Given the description of an element on the screen output the (x, y) to click on. 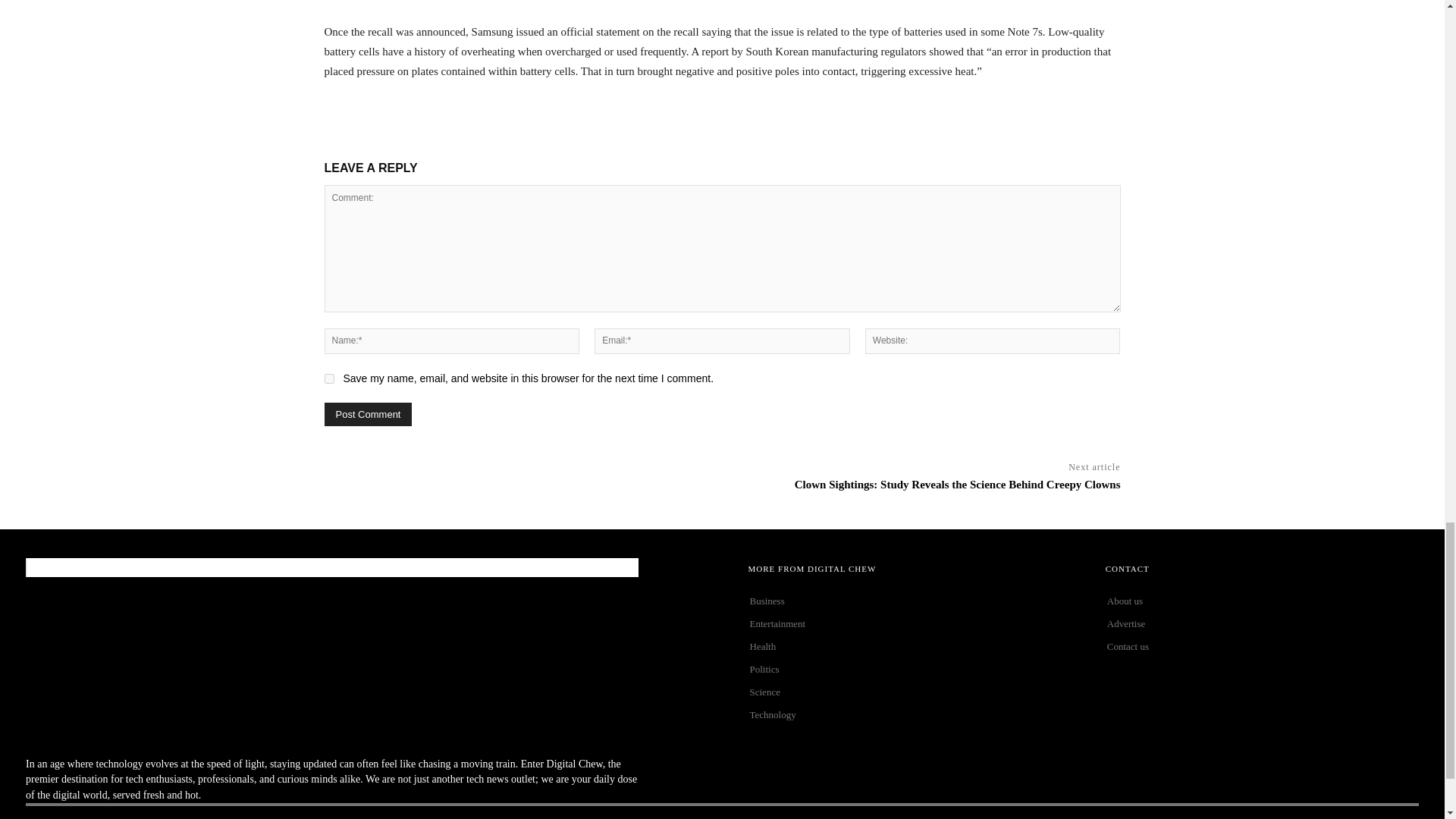
Entertainment (905, 623)
Business (905, 600)
Politics (905, 669)
Science (905, 691)
Health (905, 646)
Post Comment (368, 413)
Technology (905, 714)
About us (1262, 600)
Post Comment (368, 413)
yes (329, 378)
